Given the description of an element on the screen output the (x, y) to click on. 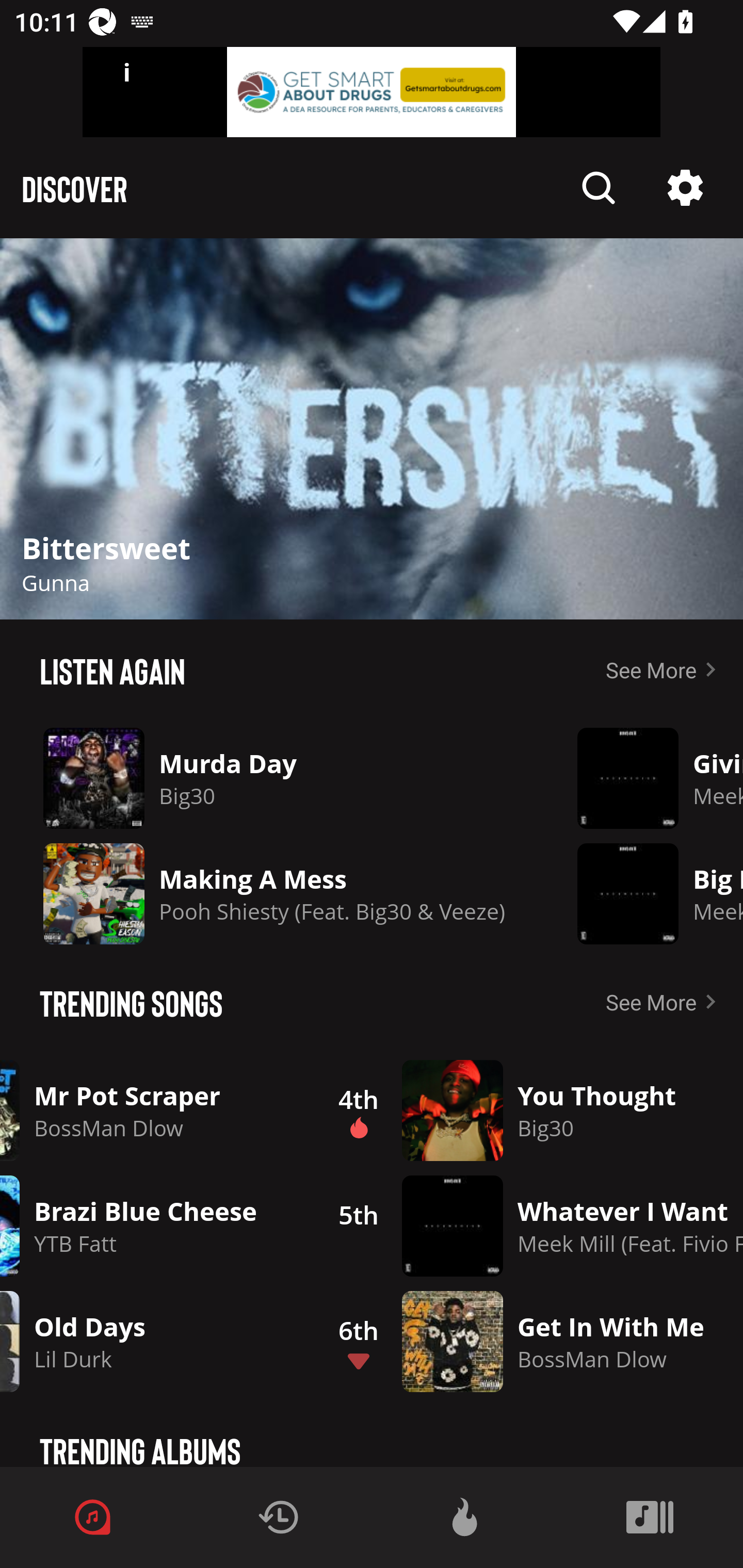
Description (598, 188)
Description (684, 188)
Description (371, 428)
See More (664, 669)
Description Murda Day Big30 (274, 778)
Description Giving Chanel Meek Mill (Feat. Future) (645, 778)
Description Big Boy Meek Mill (645, 893)
See More (664, 1001)
Description Mr Pot Scraper BossMan Dlow (150, 1110)
4th Description Description You Thought Big30 (529, 1110)
Description Brazi Blue Cheese YTB Fatt (150, 1226)
Description Old Days Lil Durk (150, 1341)
